Given the description of an element on the screen output the (x, y) to click on. 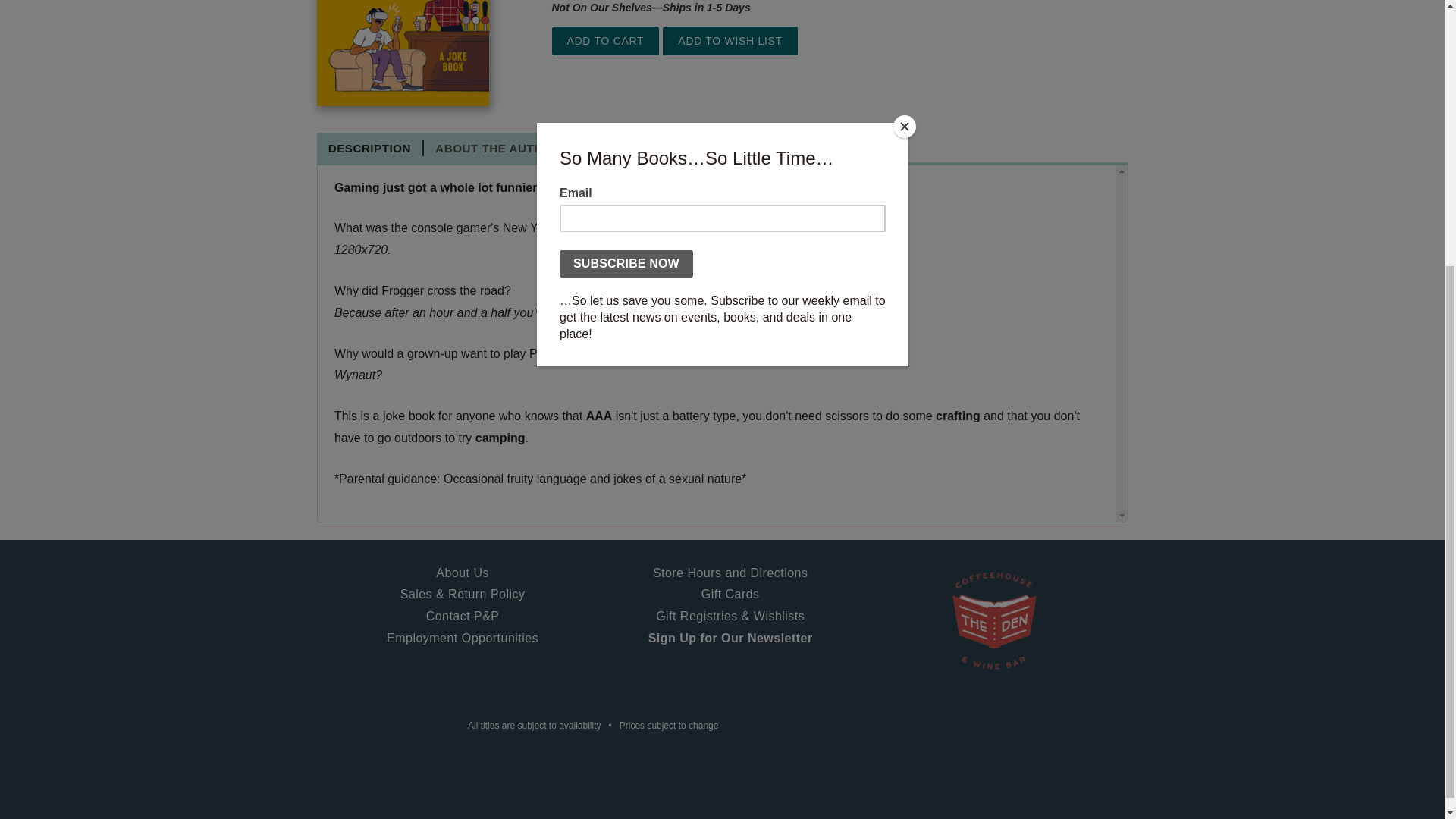
Add to Cart (605, 41)
Add to Wish List (729, 41)
